Given the description of an element on the screen output the (x, y) to click on. 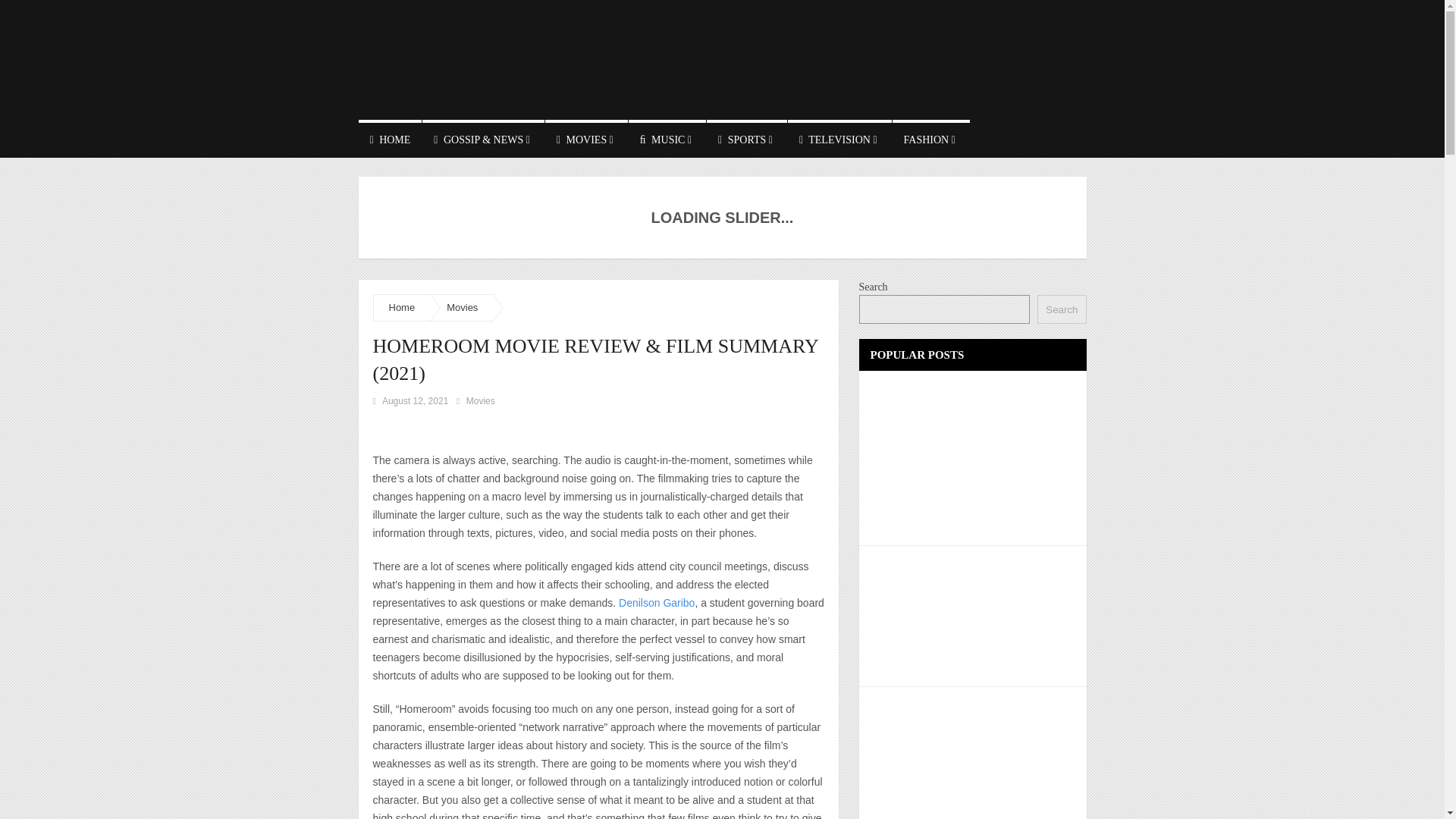
MUSIC (667, 138)
SPORTS (746, 138)
TELEVISION (839, 138)
Home (401, 307)
Movies (480, 400)
Movies (461, 307)
MOVIES (585, 138)
Denilson Garibo (656, 603)
HOME (390, 138)
FASHION (930, 138)
